Given the description of an element on the screen output the (x, y) to click on. 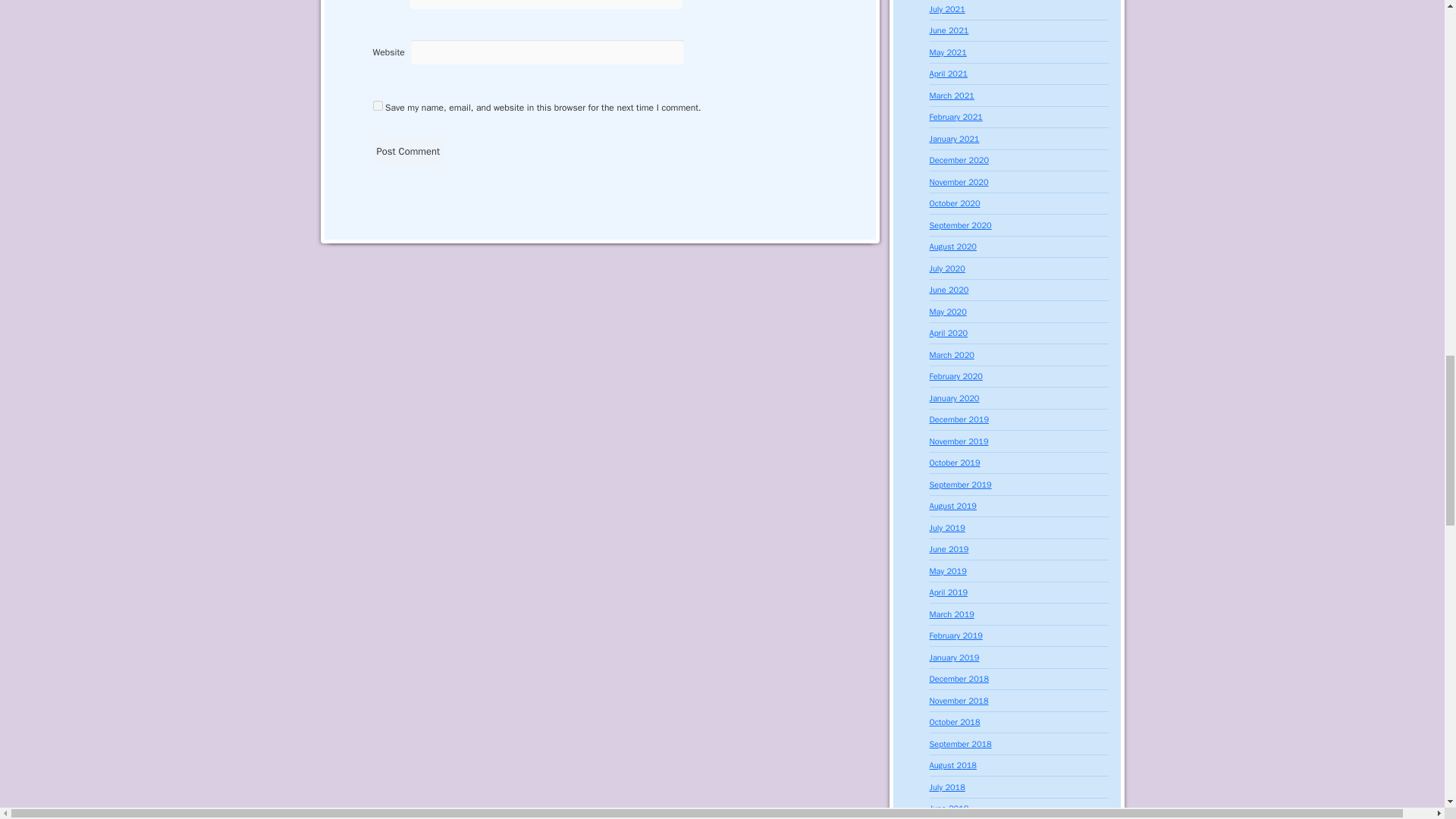
Post Comment (408, 151)
yes (377, 105)
Post Comment (408, 151)
